Given the description of an element on the screen output the (x, y) to click on. 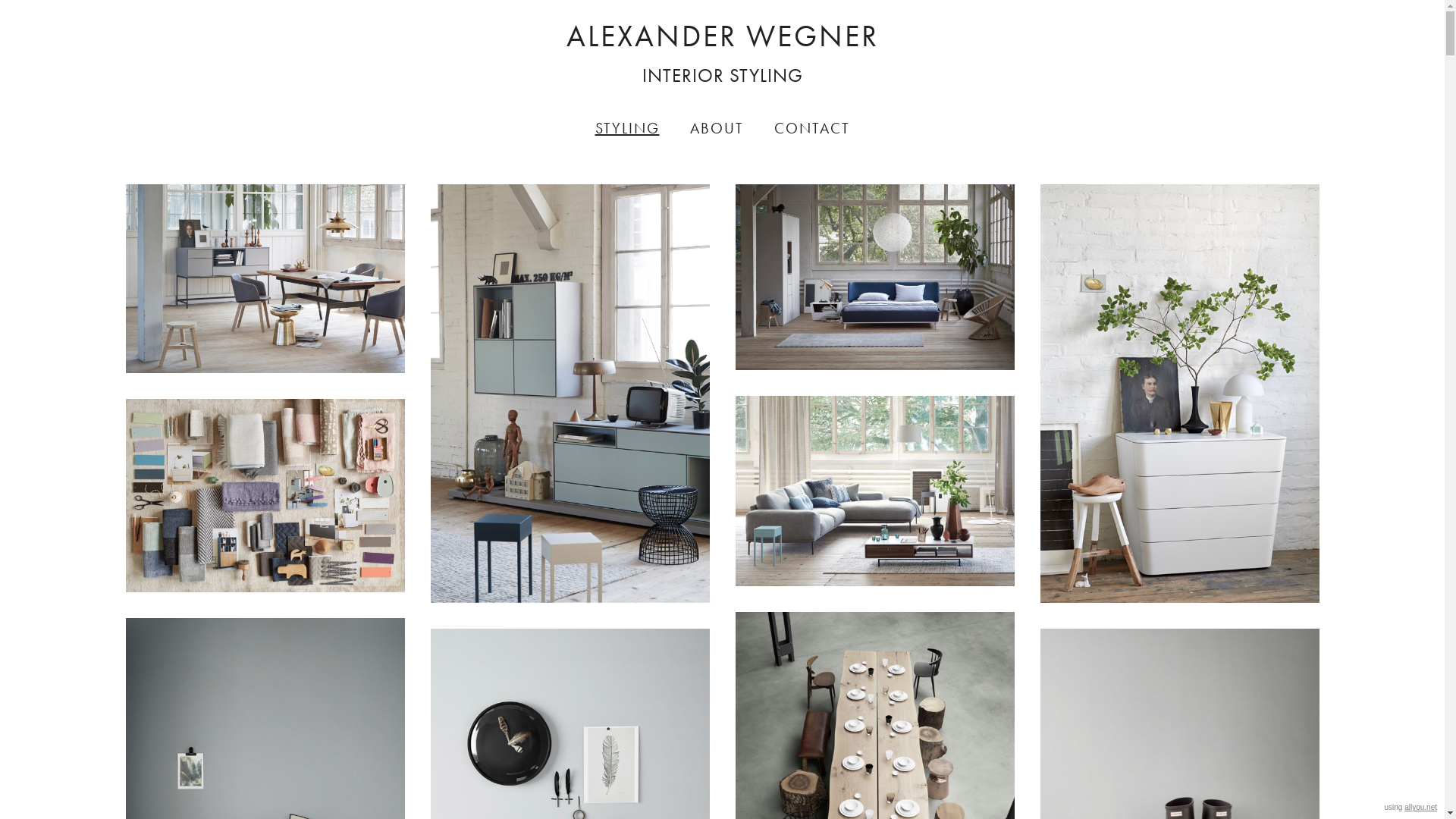
allyou.net Element type: text (1420, 807)
ABOUT Element type: text (716, 127)
CONTACT Element type: text (811, 127)
ALEXANDER WEGNER
INTERIOR STYLING Element type: text (722, 55)
STYLING Element type: text (626, 127)
